Given the description of an element on the screen output the (x, y) to click on. 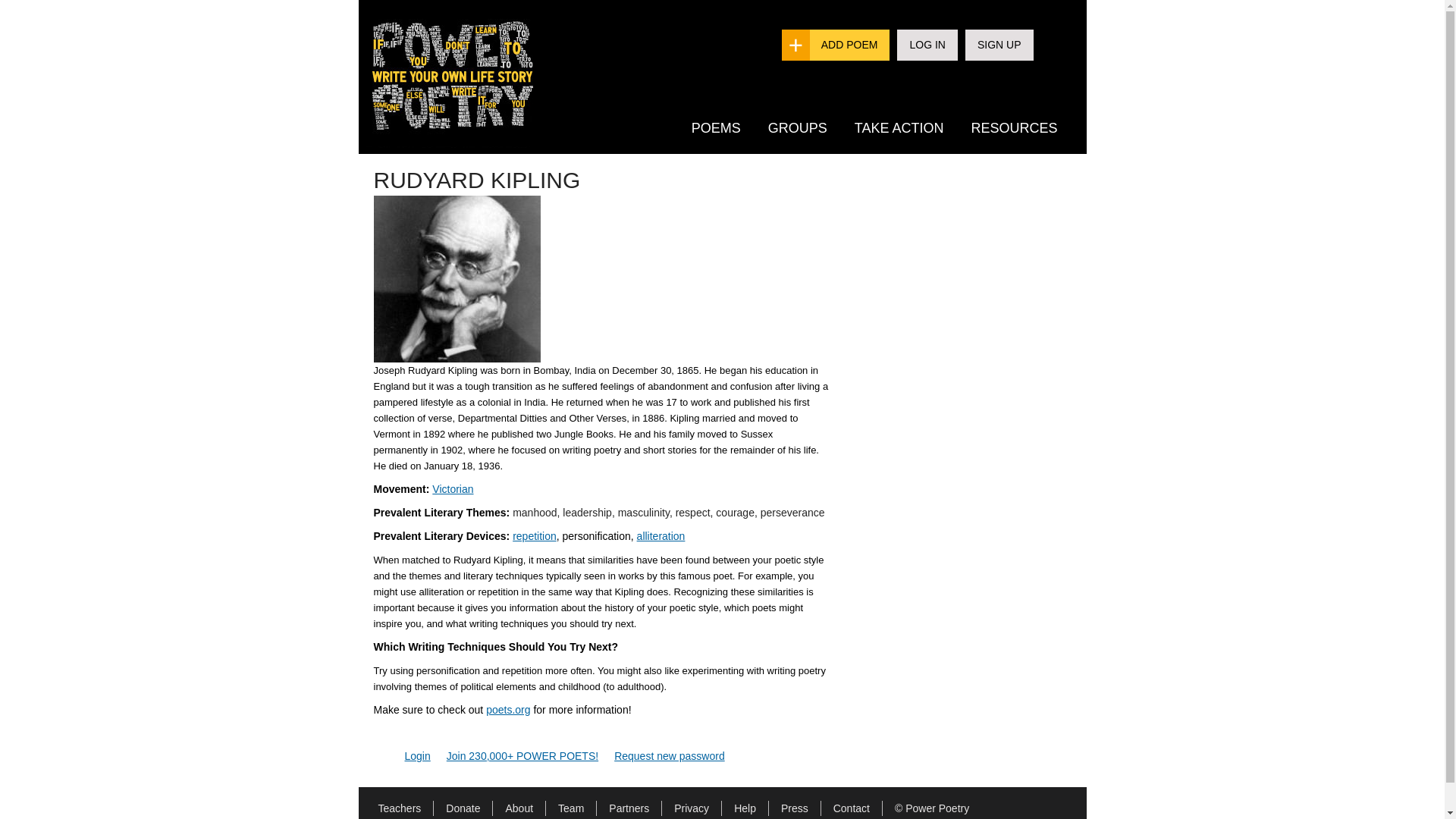
ADD POEM (849, 44)
GROUPS (797, 127)
RESOURCES (1013, 127)
Victorian (452, 489)
SIGN UP (999, 44)
POEMS (716, 127)
LOG IN (926, 44)
repetition (534, 535)
alliteration (661, 535)
Skip to main content (691, 1)
TAKE ACTION (899, 127)
poets.org (507, 709)
